Given the description of an element on the screen output the (x, y) to click on. 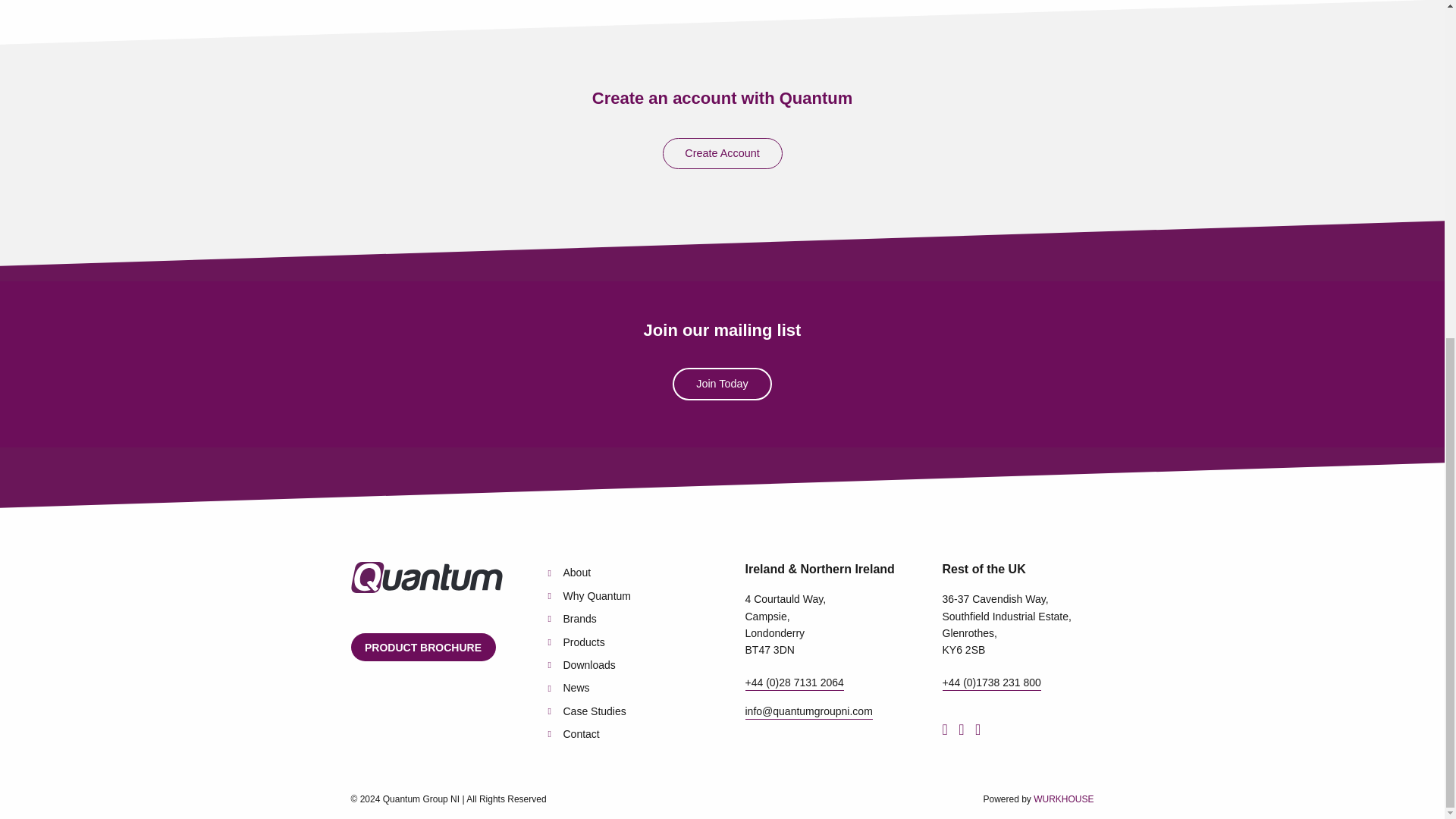
PRODUCT BROCHURE (422, 646)
Why Quantum (588, 595)
Brands (571, 618)
Join Today (721, 383)
Contact (572, 734)
Case Studies (586, 711)
About (569, 572)
News (568, 687)
Products (575, 642)
Create Account (722, 153)
